Given the description of an element on the screen output the (x, y) to click on. 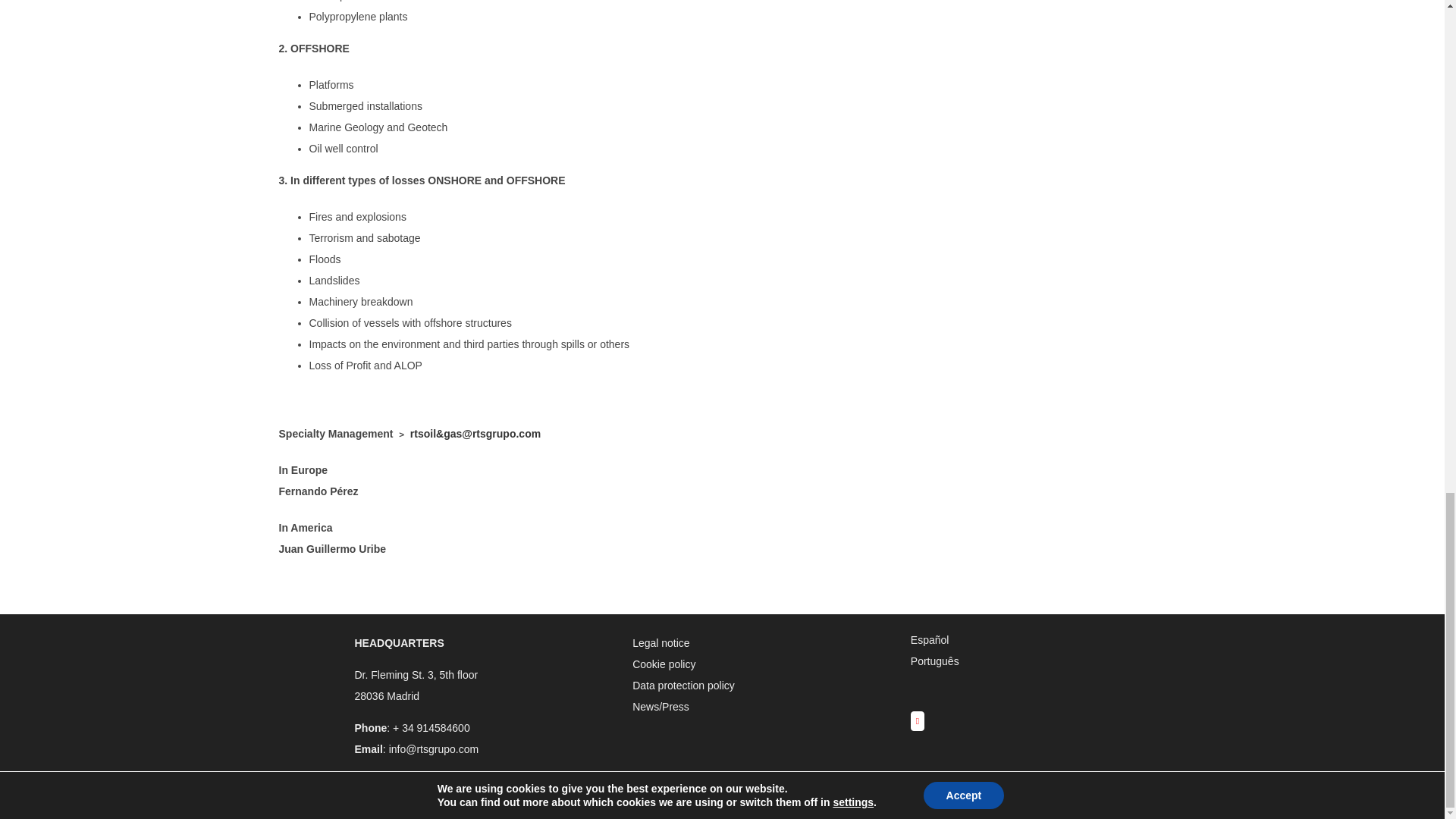
LinkedIn (917, 721)
